Given the description of an element on the screen output the (x, y) to click on. 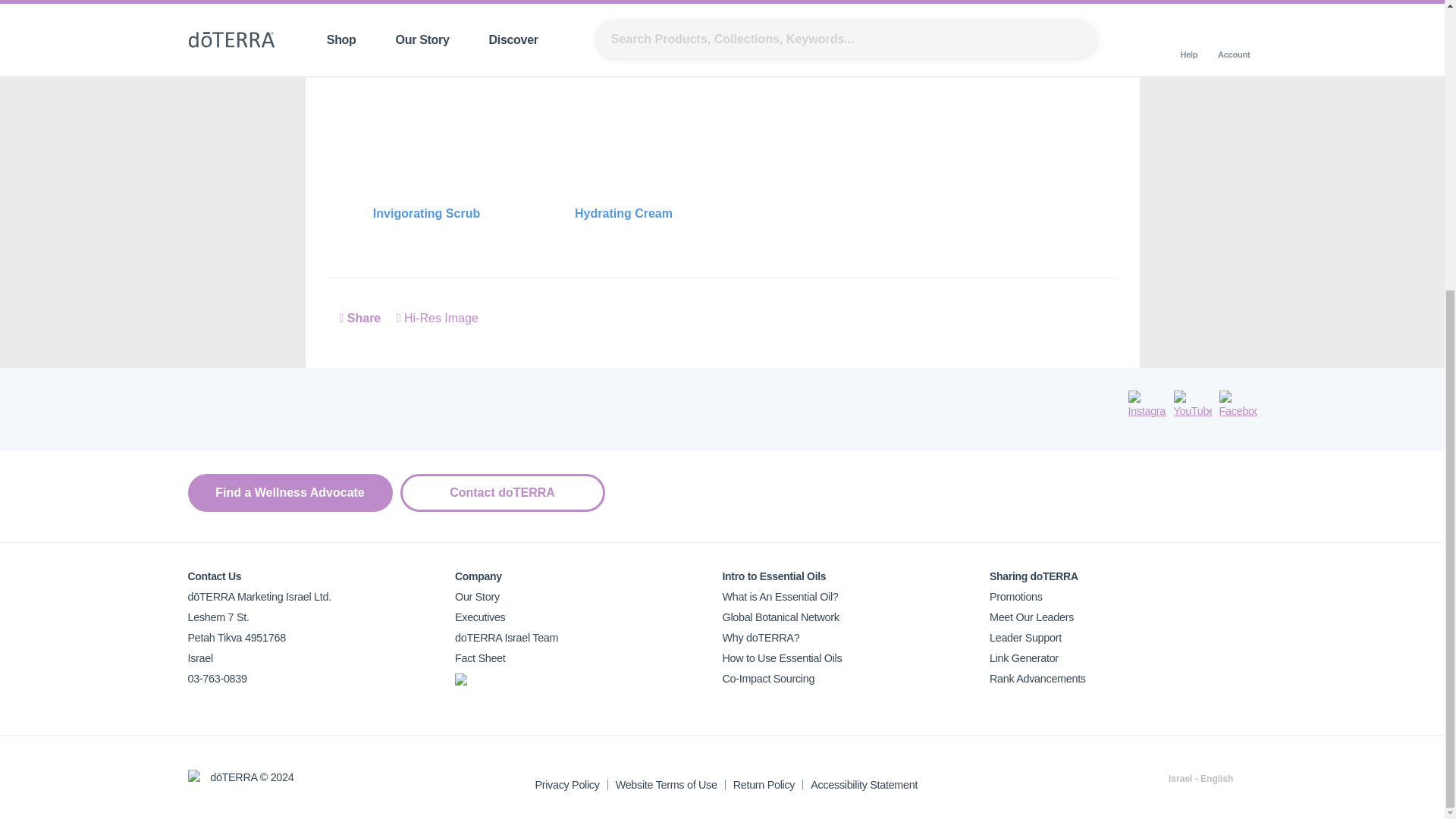
Instagram (1147, 405)
Facebook (1238, 405)
YouTube (1192, 405)
